Given the description of an element on the screen output the (x, y) to click on. 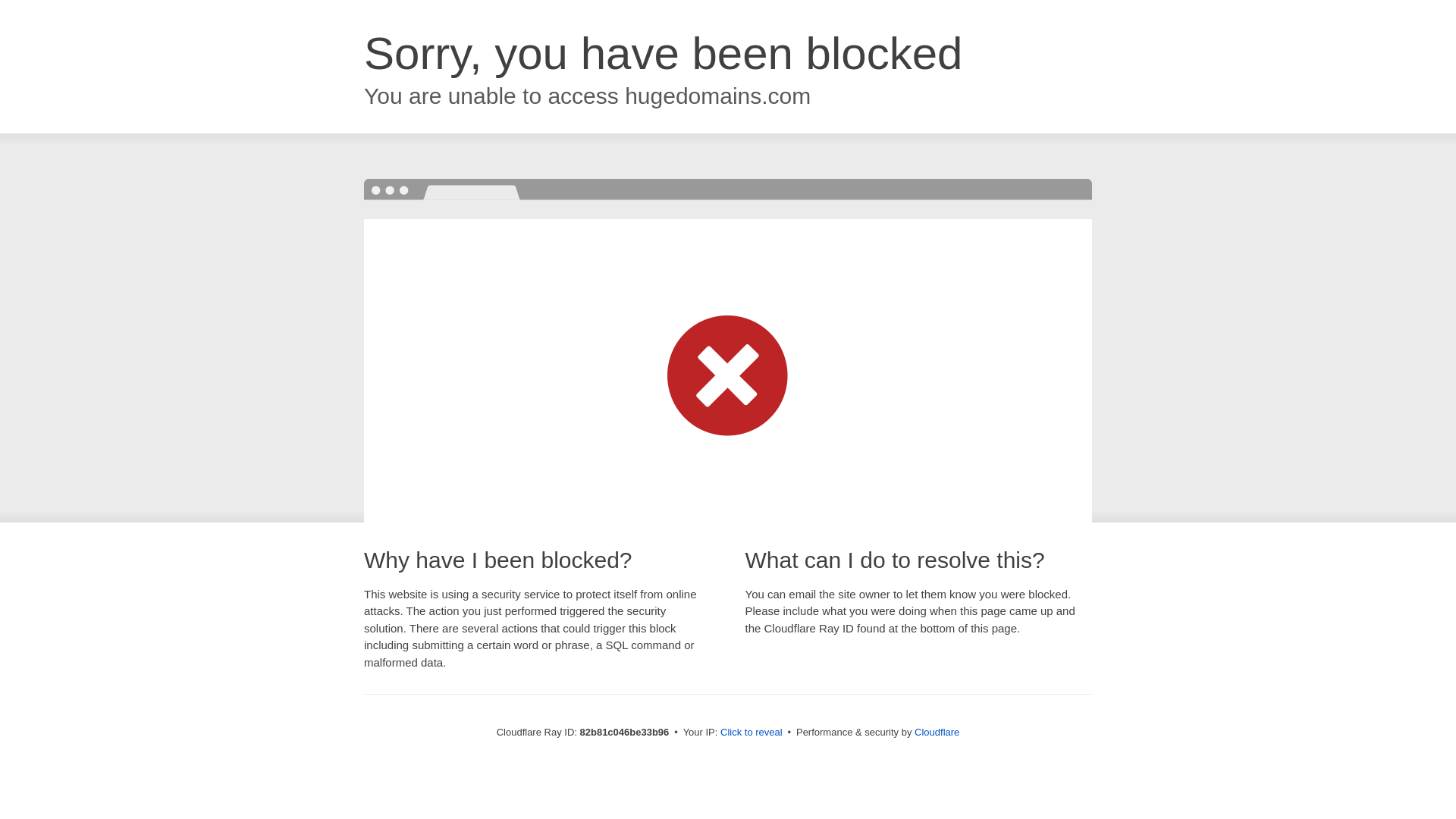
Cloudflare Element type: text (936, 731)
Click to reveal Element type: text (751, 732)
